Given the description of an element on the screen output the (x, y) to click on. 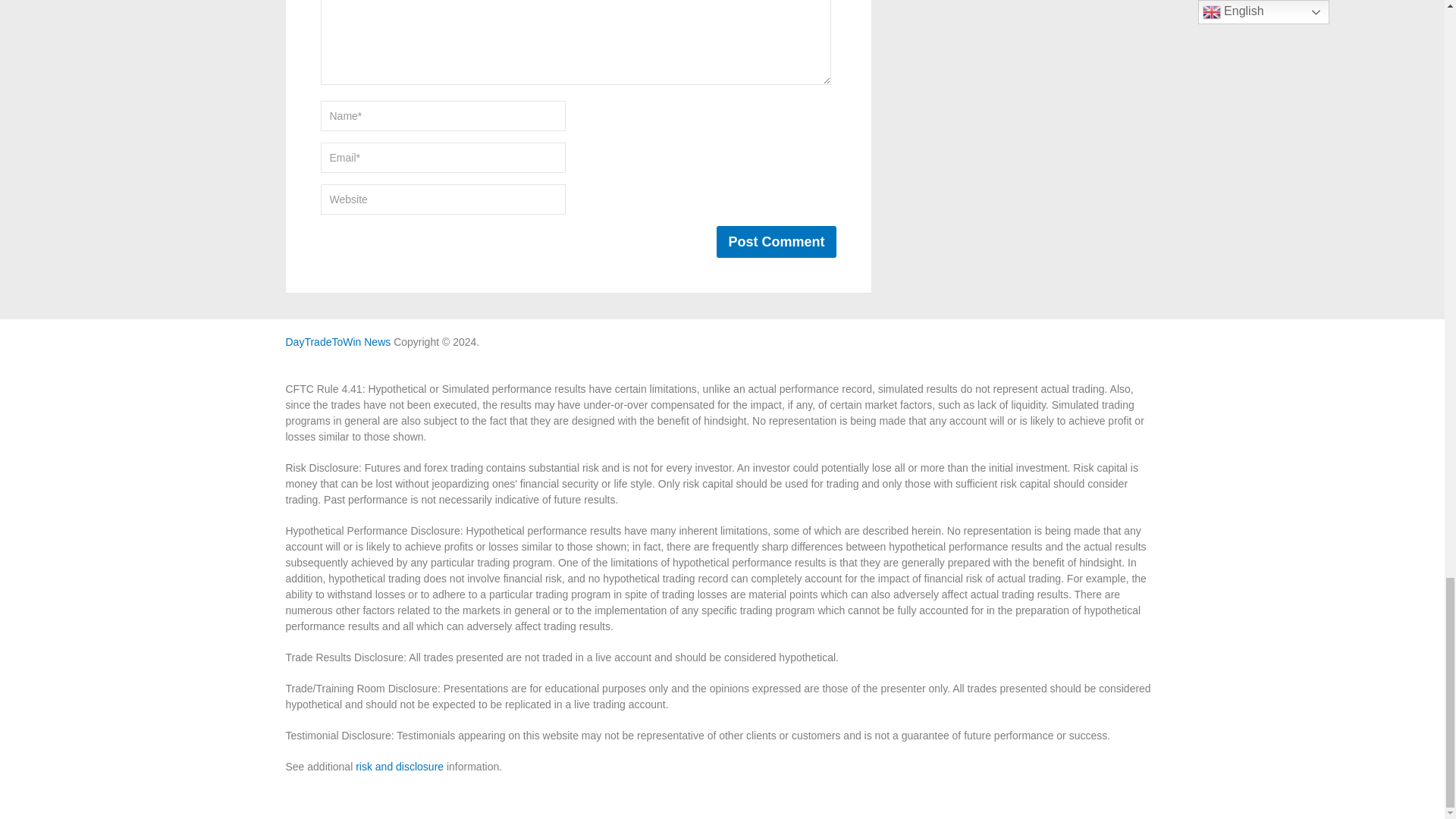
Post Comment (775, 241)
 Day Trading Systems Price Action Strategies (337, 341)
